Given the description of an element on the screen output the (x, y) to click on. 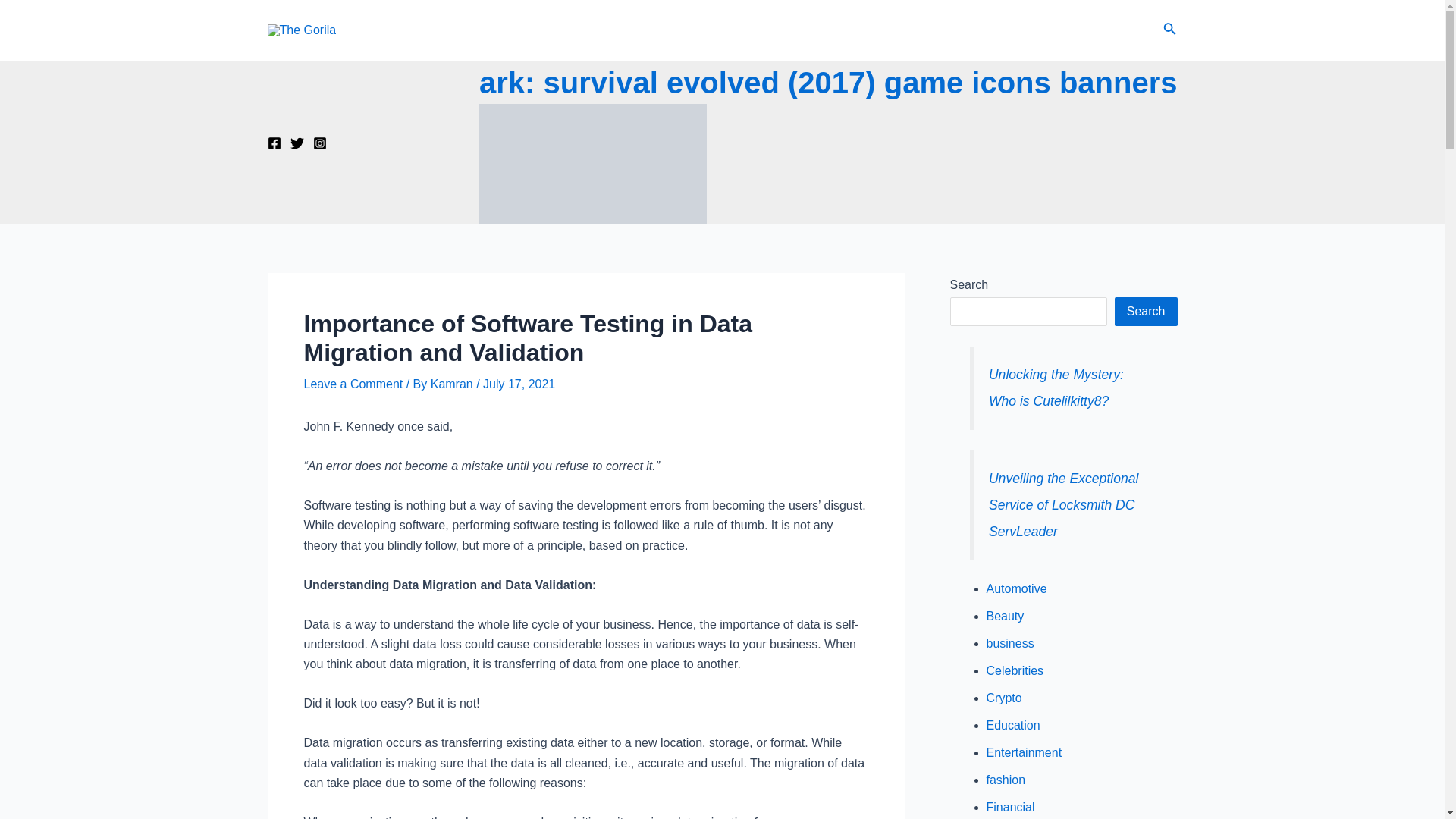
Search (1169, 30)
Leave a Comment (352, 383)
View all posts by Kamran (453, 383)
Kamran (453, 383)
